Given the description of an element on the screen output the (x, y) to click on. 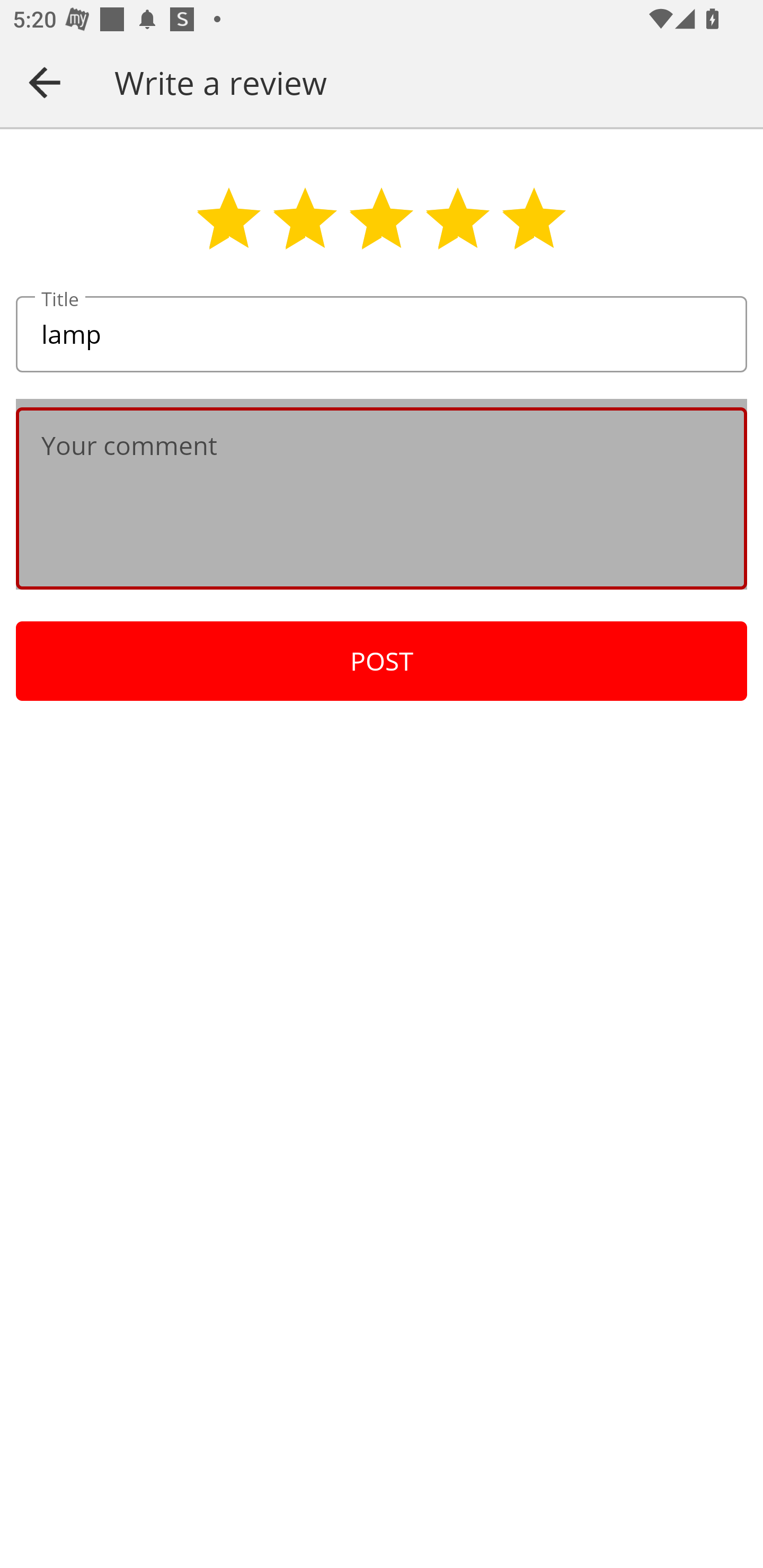
Navigate up (44, 82)
lamp (381, 334)
Your comment (381, 498)
POST (381, 660)
